Given the description of an element on the screen output the (x, y) to click on. 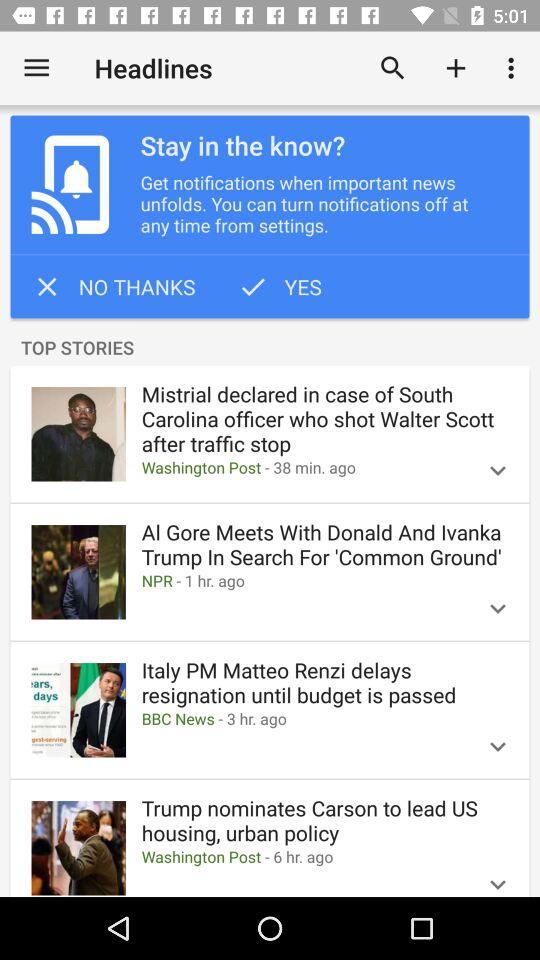
flip until mistrial declared in item (324, 419)
